Given the description of an element on the screen output the (x, y) to click on. 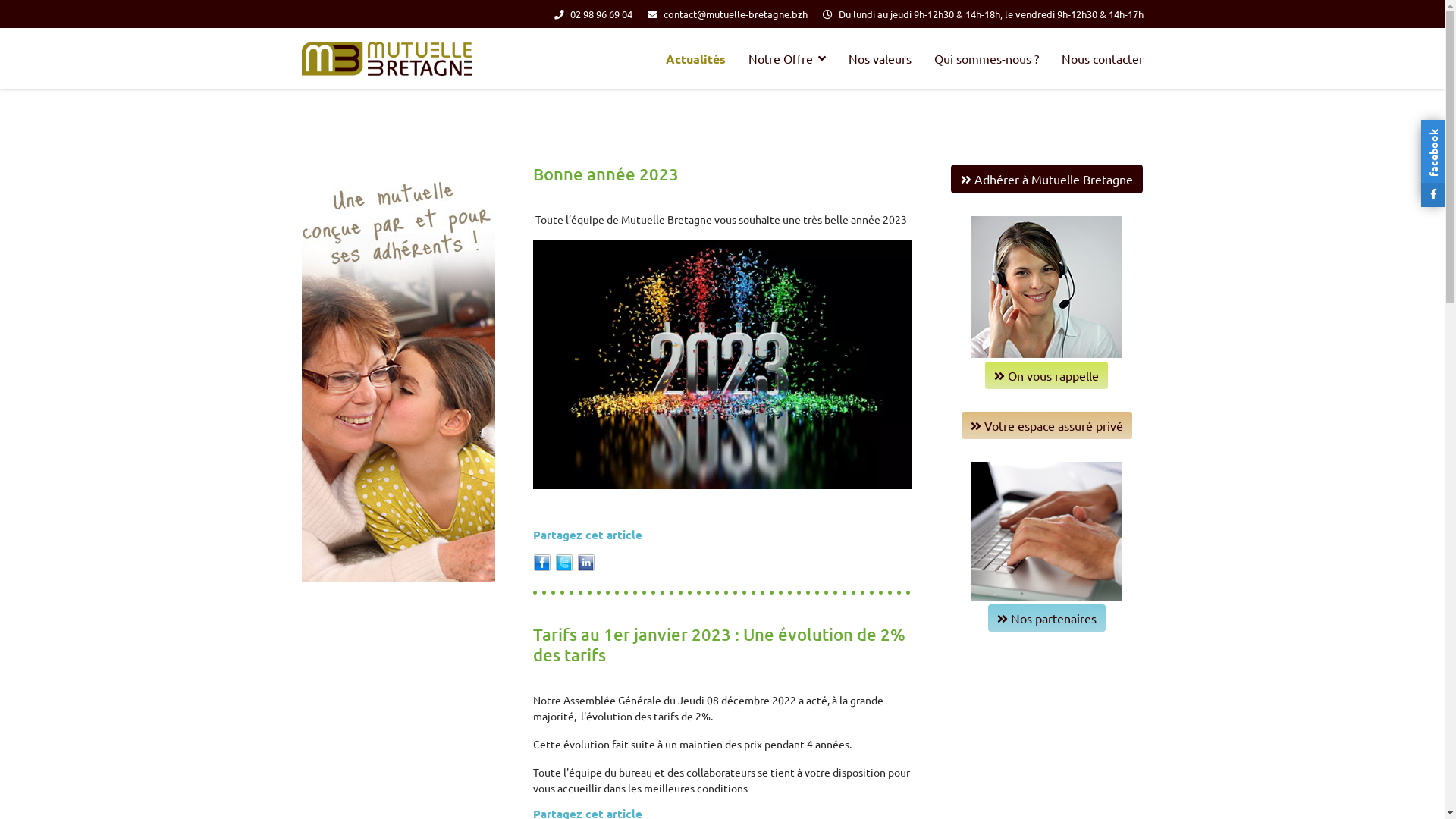
Submit to Facebook Element type: hover (541, 560)
Nos valeurs Element type: text (879, 58)
Nos partenaires Element type: text (1045, 617)
contact@mutuelle-bretagne.bzh Element type: text (734, 13)
On vous rappelle Element type: text (1046, 375)
Submit to LinkedIn Element type: hover (585, 560)
02 98 96 69 04 Element type: text (601, 13)
Nous contacter Element type: text (1101, 58)
Notre Offre Element type: text (787, 58)
Qui sommes-nous ? Element type: text (985, 58)
Submit to Twitter Element type: hover (564, 560)
